Given the description of an element on the screen output the (x, y) to click on. 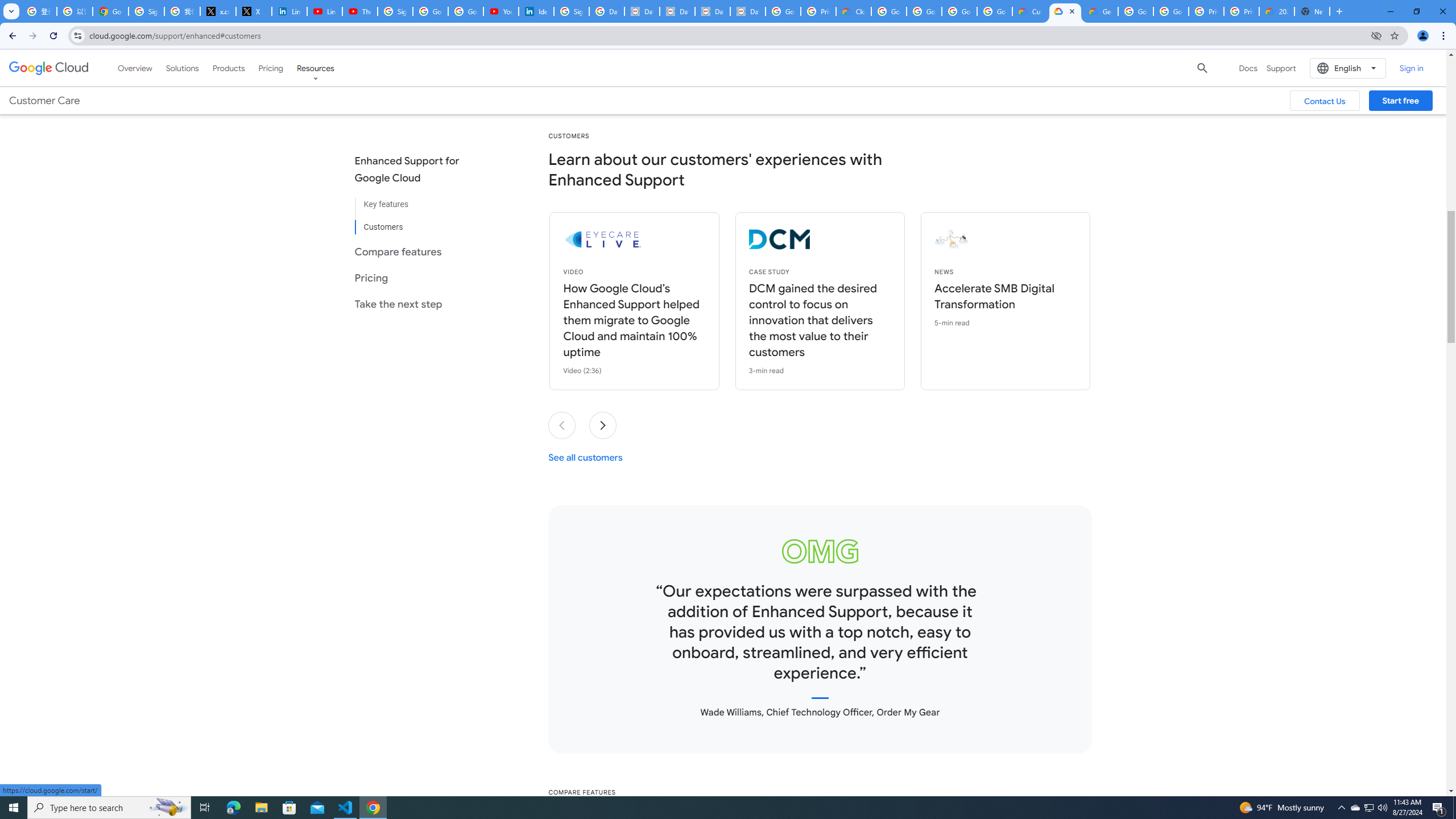
Sign in - Google Accounts (145, 11)
New Tab (1312, 11)
Data Privacy Framework (677, 11)
Take the next step (416, 303)
Contact Us (1324, 100)
Google Workspace - Specific Terms (994, 11)
